Given the description of an element on the screen output the (x, y) to click on. 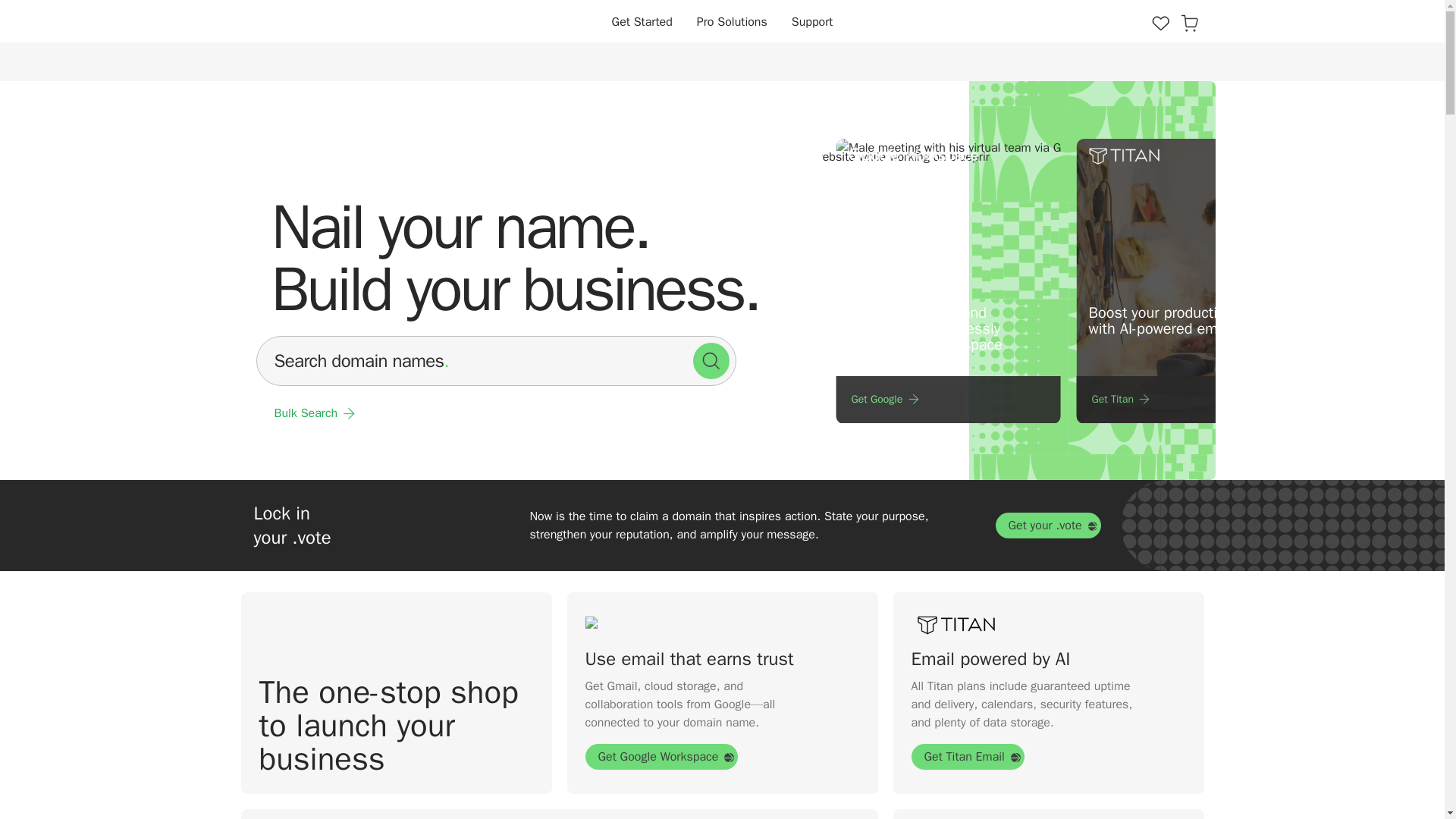
Get Google (948, 398)
Support (813, 21)
Bulk Search (317, 413)
Cart (1189, 22)
Get Google Workspace (661, 756)
Get Titan (1121, 398)
Get Google (887, 398)
Get your .vote (1047, 525)
Get Titan Email (968, 756)
Pro Solutions (731, 21)
Products (1160, 22)
Get Titan (1187, 398)
Get Started (641, 21)
